Given the description of an element on the screen output the (x, y) to click on. 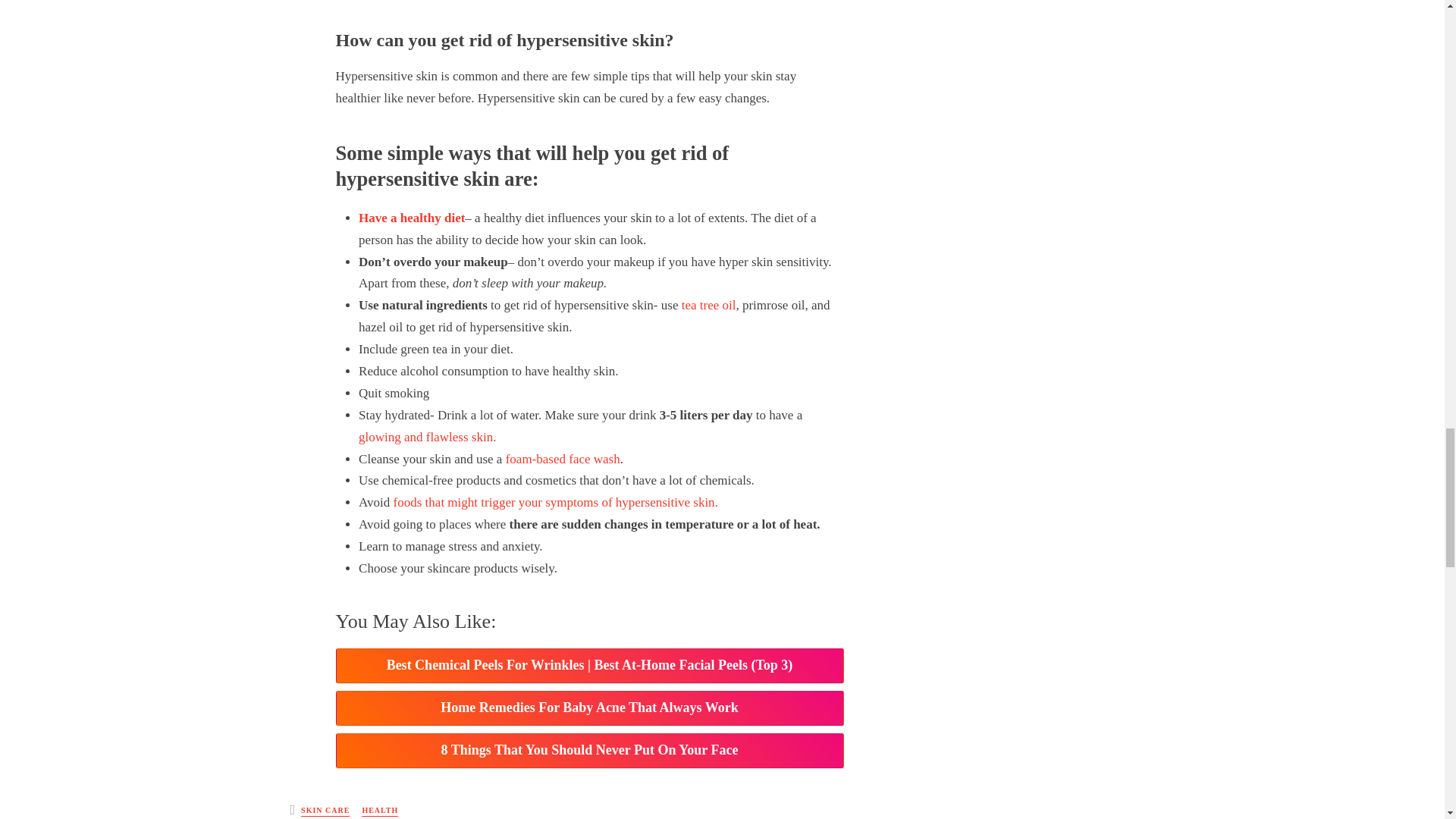
Have a healthy diet (411, 217)
glowing and flawless skin. (427, 436)
foam-based face wash (562, 459)
tea tree oil (708, 305)
